Given the description of an element on the screen output the (x, y) to click on. 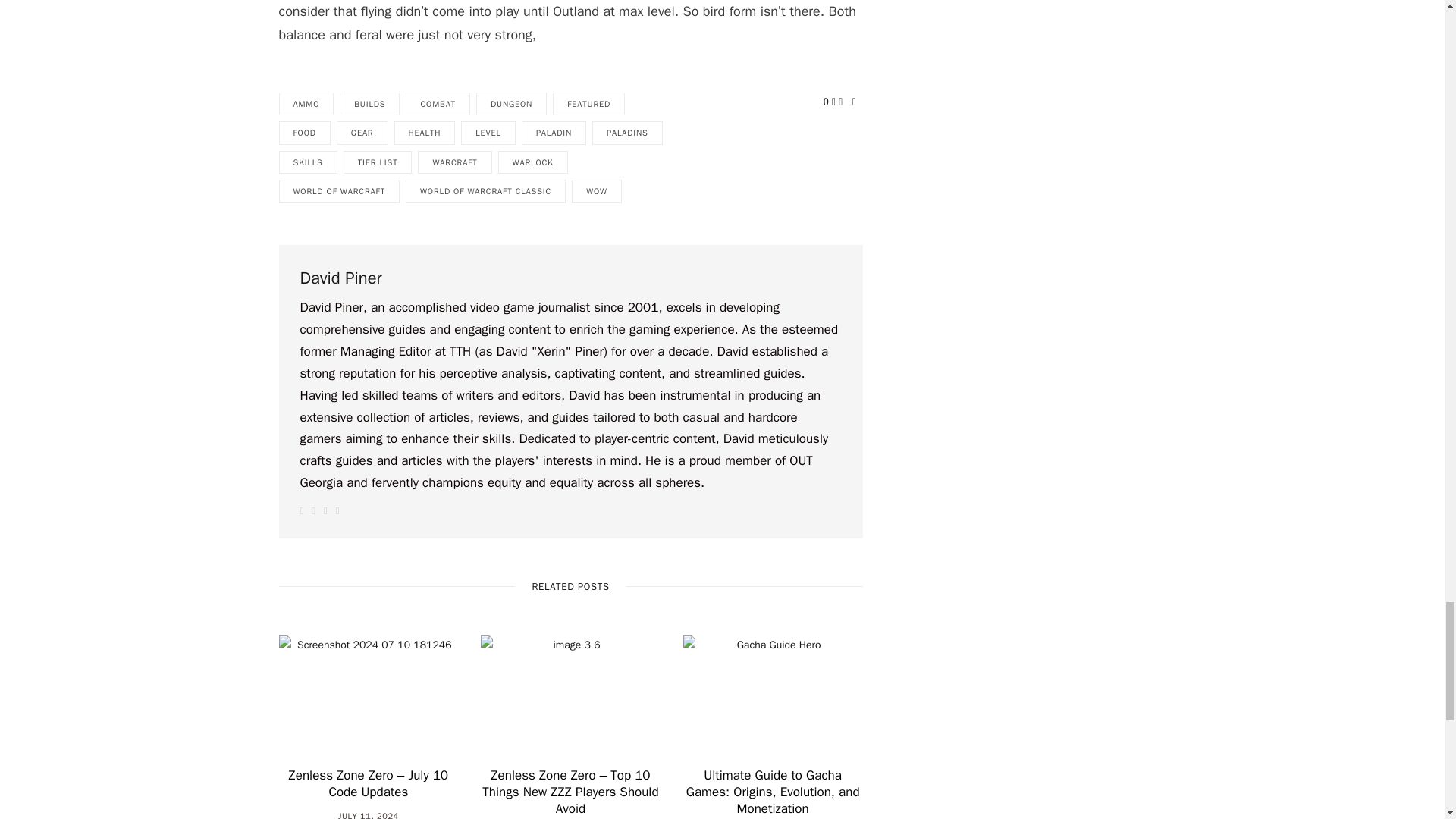
LEVEL (488, 132)
FOOD (304, 132)
Posts by David Piner (340, 278)
DUNGEON (511, 104)
0 (826, 102)
BUILDS (368, 104)
Twitter (325, 510)
COMBAT (438, 104)
FEATURED (588, 104)
HEALTH (424, 132)
WORLD OF WARCRAFT CLASSIC (486, 191)
LinkedIn (853, 101)
WARCRAFT (454, 162)
GEAR (362, 132)
